Given the description of an element on the screen output the (x, y) to click on. 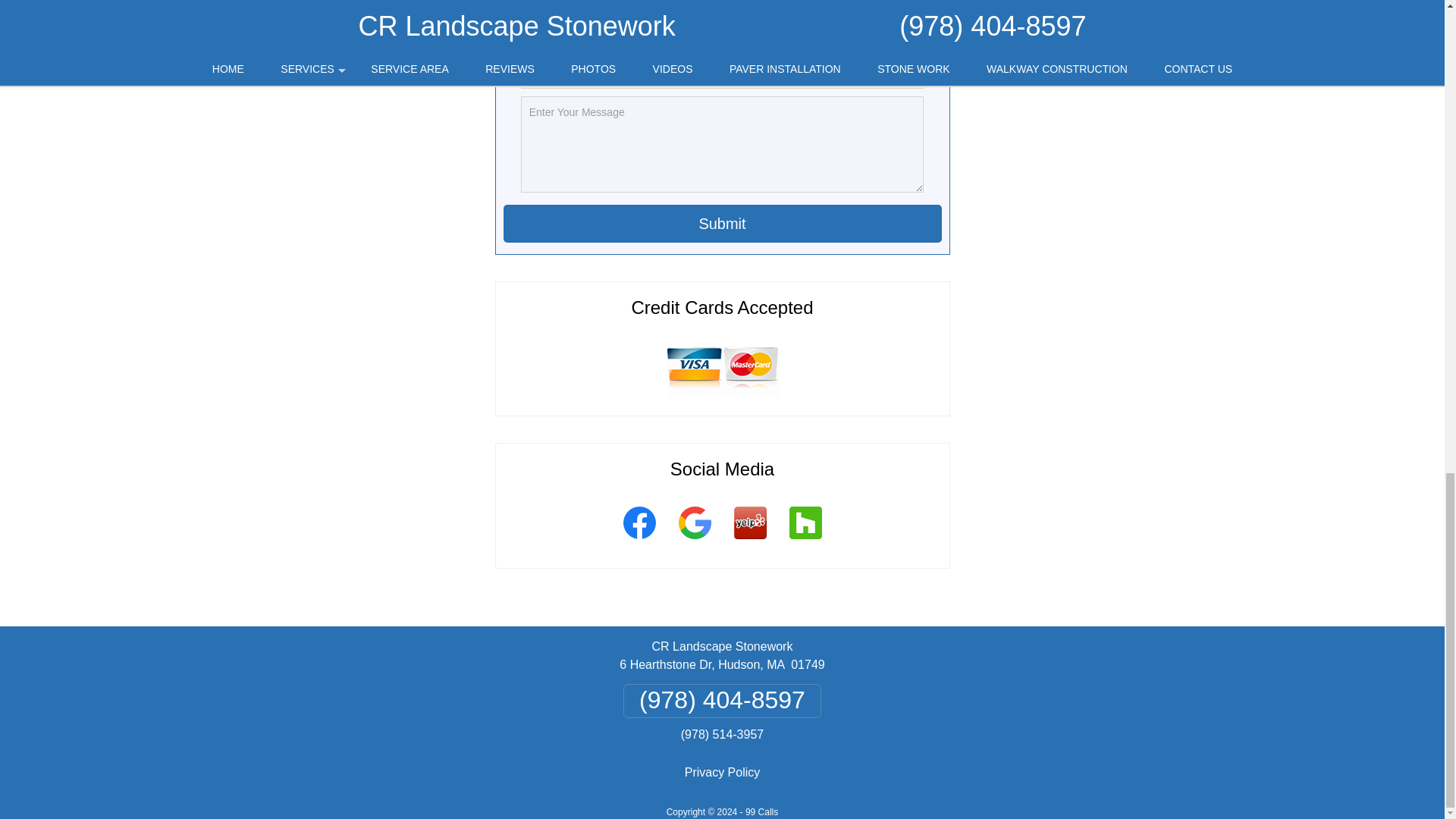
Houzz (804, 541)
Facebook (638, 541)
Yelp (749, 541)
Google (694, 541)
